Given the description of an element on the screen output the (x, y) to click on. 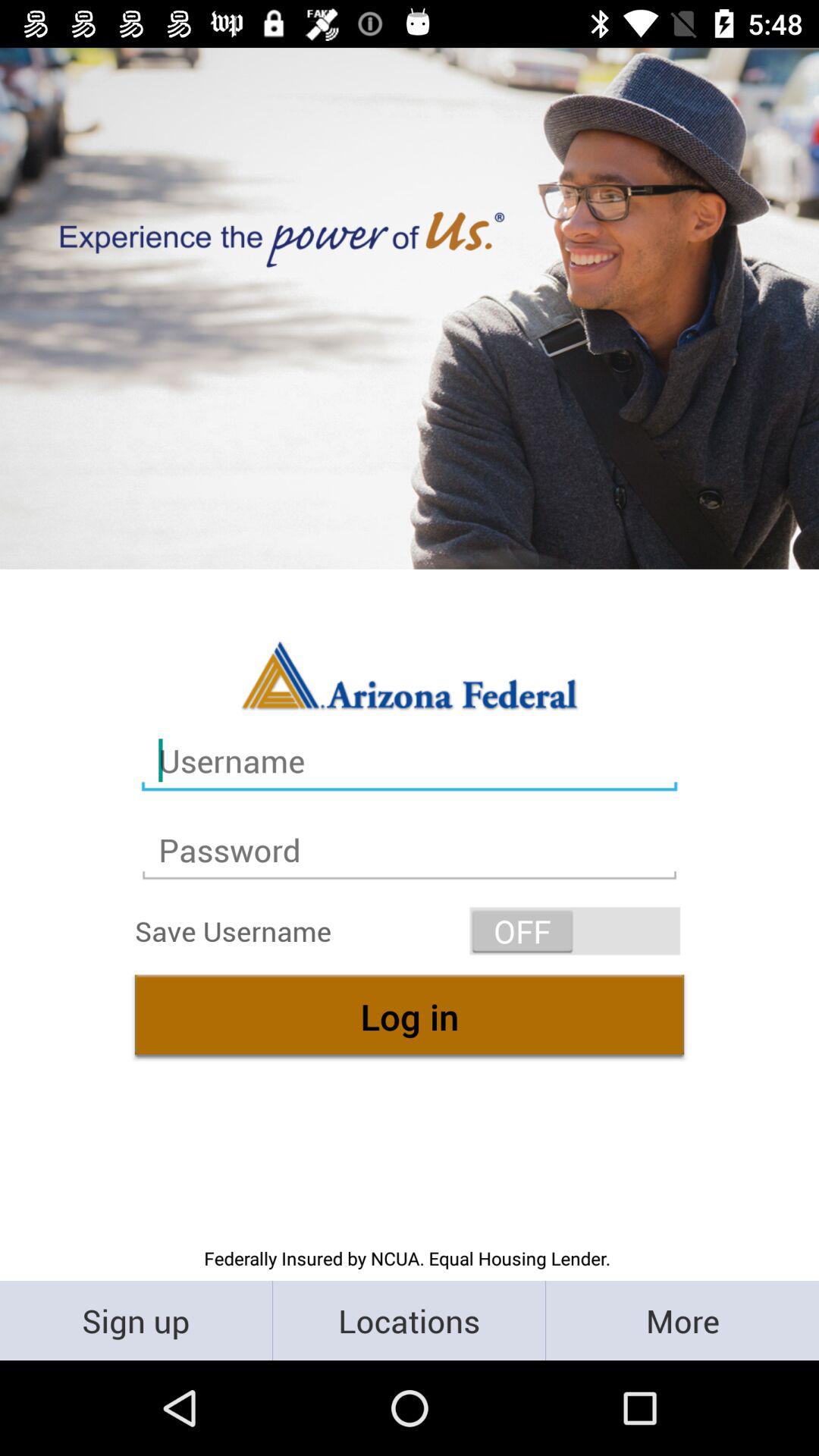
flip until the log in icon (409, 1016)
